Given the description of an element on the screen output the (x, y) to click on. 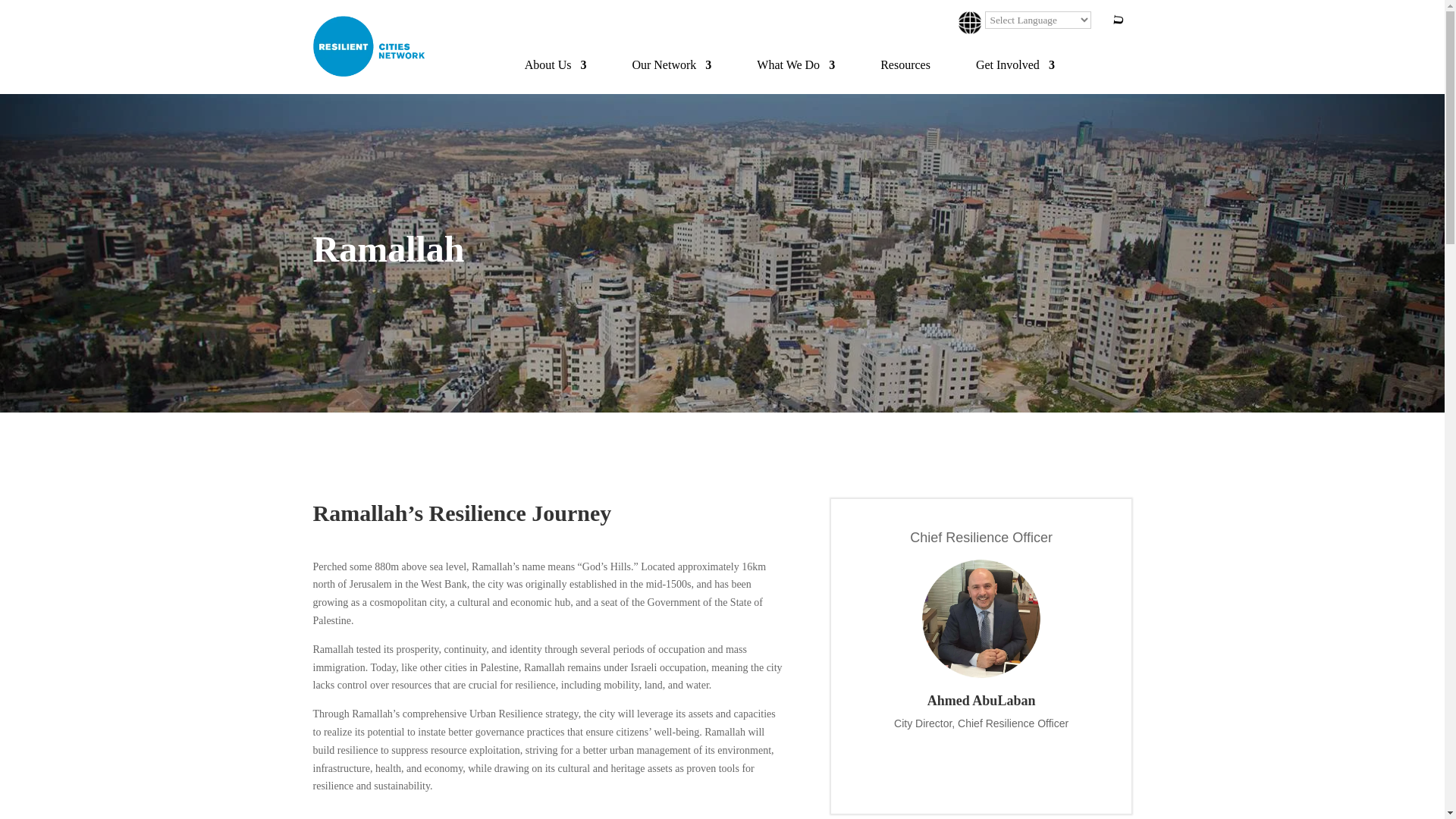
What We Do (795, 65)
Resources (905, 65)
Get Involved (1014, 65)
Our Network (671, 65)
About Us (555, 65)
